Given the description of an element on the screen output the (x, y) to click on. 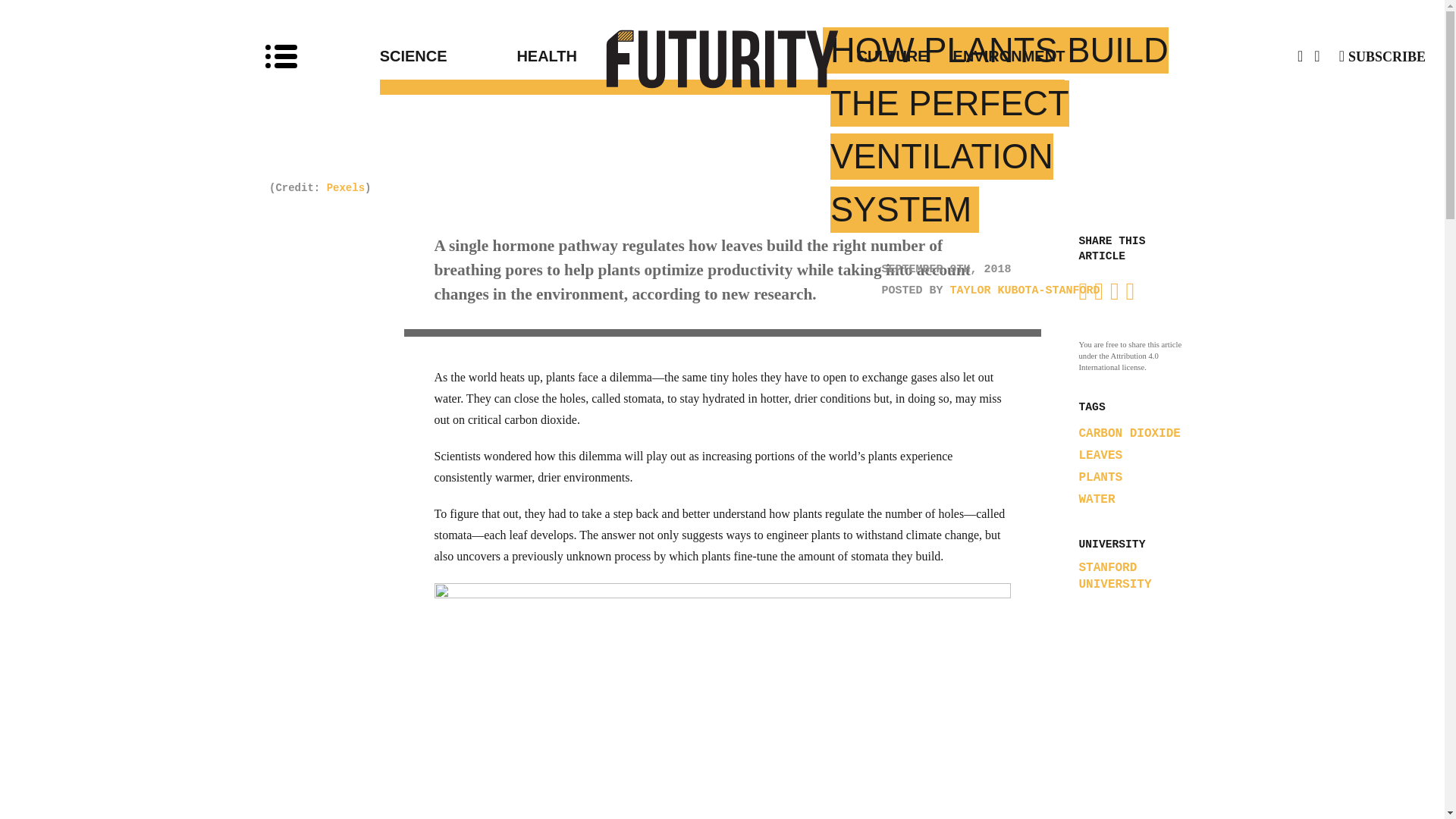
CARBON DIOXIDE (1128, 433)
Health (619, 55)
HEALTH (619, 55)
Research news from top universities (722, 58)
Science (448, 55)
SUBSCRIBE (1382, 56)
SCIENCE (448, 55)
WATER (1096, 499)
CULTURE (824, 55)
Culture (824, 55)
